Given the description of an element on the screen output the (x, y) to click on. 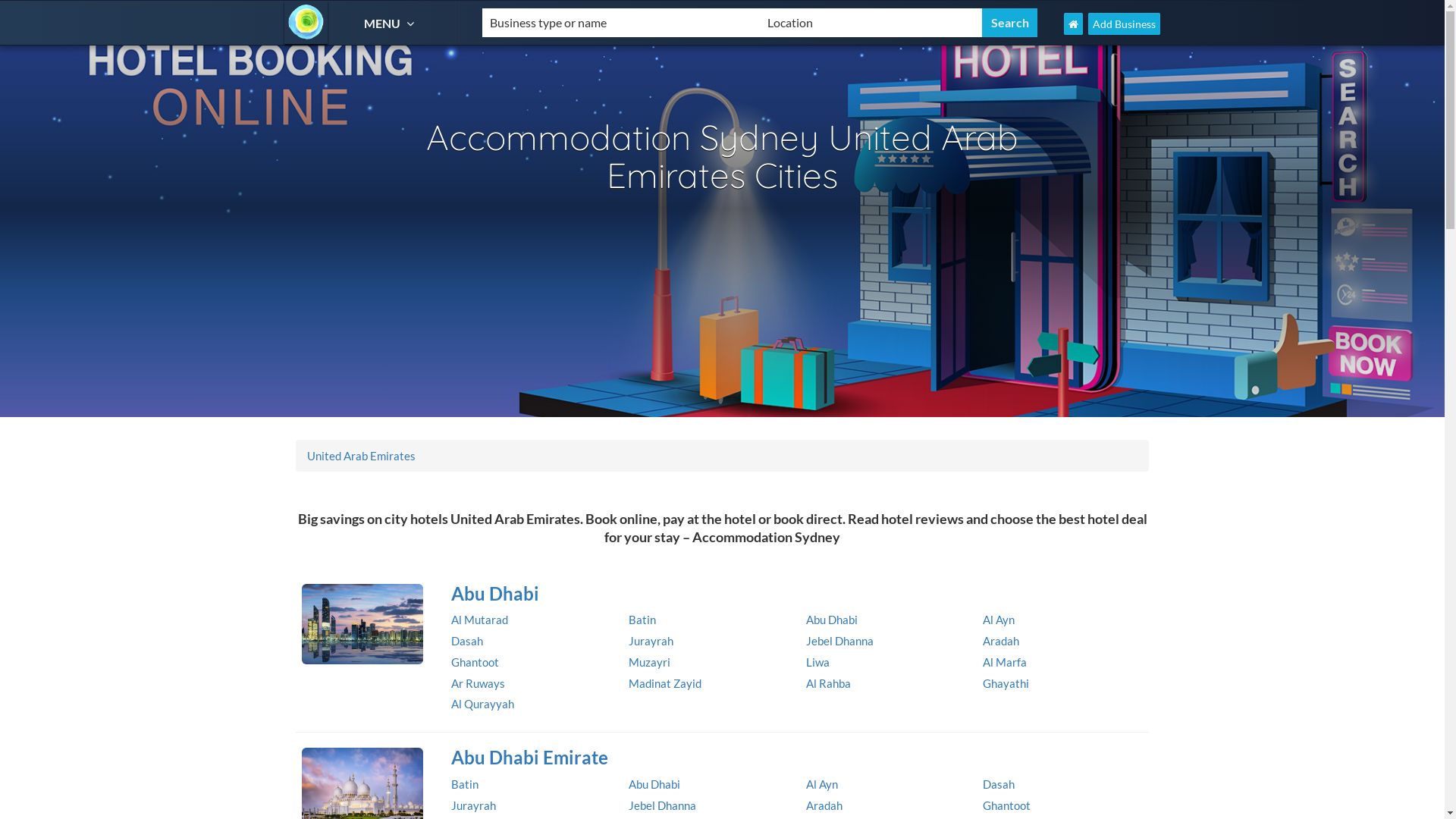
Al Ayn Element type: text (821, 783)
Jebel Dhanna Element type: text (662, 805)
Abu Dhabi Element type: text (830, 619)
Search Element type: text (1009, 22)
Madinat Zayid Element type: text (664, 683)
Ghantoot Element type: text (1006, 805)
Dasah Element type: text (998, 783)
Batin Element type: text (464, 783)
Al Marfa Element type: text (1004, 661)
Muzayri Element type: text (649, 661)
Ghayathi Element type: text (1005, 683)
Abu Dhabi Element type: hover (362, 623)
Al Qurayyah Element type: text (482, 703)
Accommodation Sydney Home Page Element type: hover (1072, 23)
Add Business Element type: text (1124, 23)
MENU Element type: text (390, 22)
Al Mutarad Element type: text (479, 619)
Batin Element type: text (641, 619)
Ar Ruways Element type: text (478, 683)
Ghantoot Element type: text (474, 661)
Abu Dhabi Element type: text (794, 593)
Al Rahba Element type: text (827, 683)
Accommodation Sydney Element type: hover (305, 21)
Dasah Element type: text (467, 640)
Aradah Element type: text (823, 805)
United Arab Emirates Element type: text (361, 455)
Jurayrah Element type: text (473, 805)
Abu Dhabi Emirate Element type: text (794, 757)
Jebel Dhanna Element type: text (838, 640)
Liwa Element type: text (816, 661)
Jurayrah Element type: text (650, 640)
Al Ayn Element type: text (998, 619)
Abu Dhabi Element type: text (654, 783)
Aradah Element type: text (1000, 640)
